Given the description of an element on the screen output the (x, y) to click on. 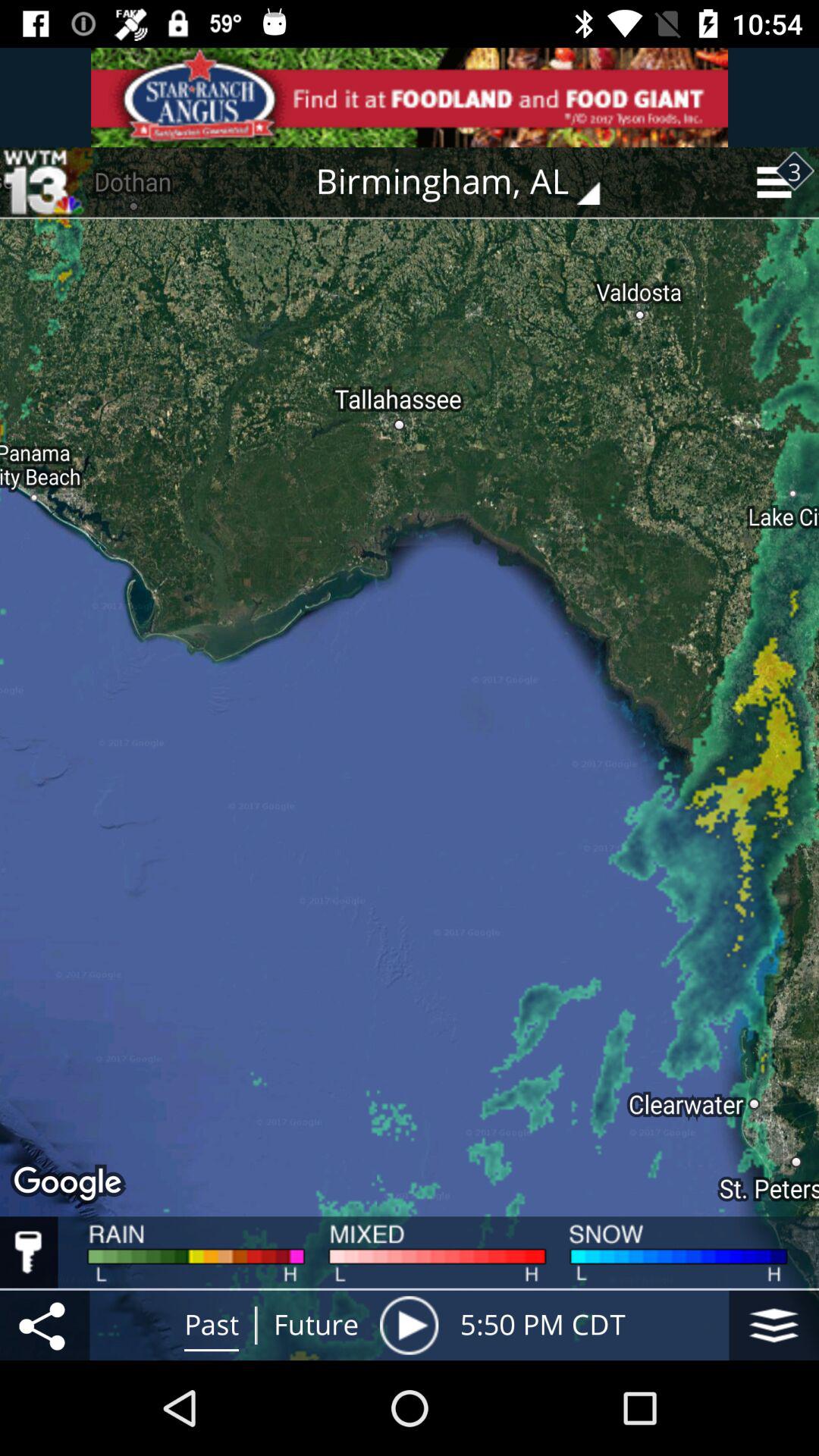
go to street-level view (774, 1325)
